Given the description of an element on the screen output the (x, y) to click on. 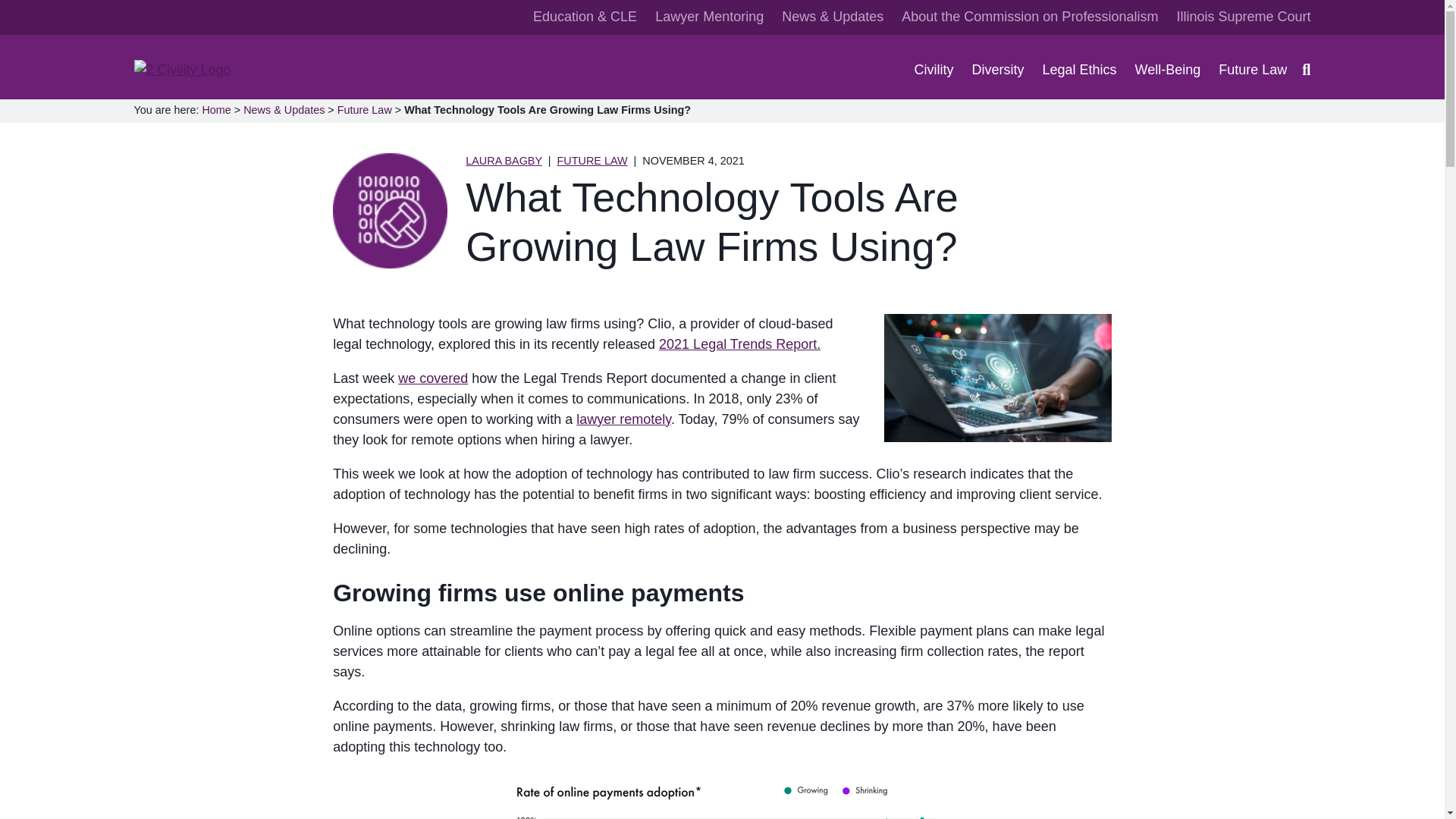
Future Law (364, 110)
Posts by Laura Bagby (503, 160)
Well-Being (1168, 70)
Future Law (1252, 70)
Civility (933, 70)
Legal Ethics (1079, 70)
FUTURE LAW (592, 160)
2Civility (156, 89)
About the Commission on Professionalism (1029, 17)
we covered (432, 378)
Home (216, 110)
lawyer remotely (623, 418)
Lawyer Mentoring (708, 17)
2021 Legal Trends Report. (740, 344)
Diversity (998, 70)
